Given the description of an element on the screen output the (x, y) to click on. 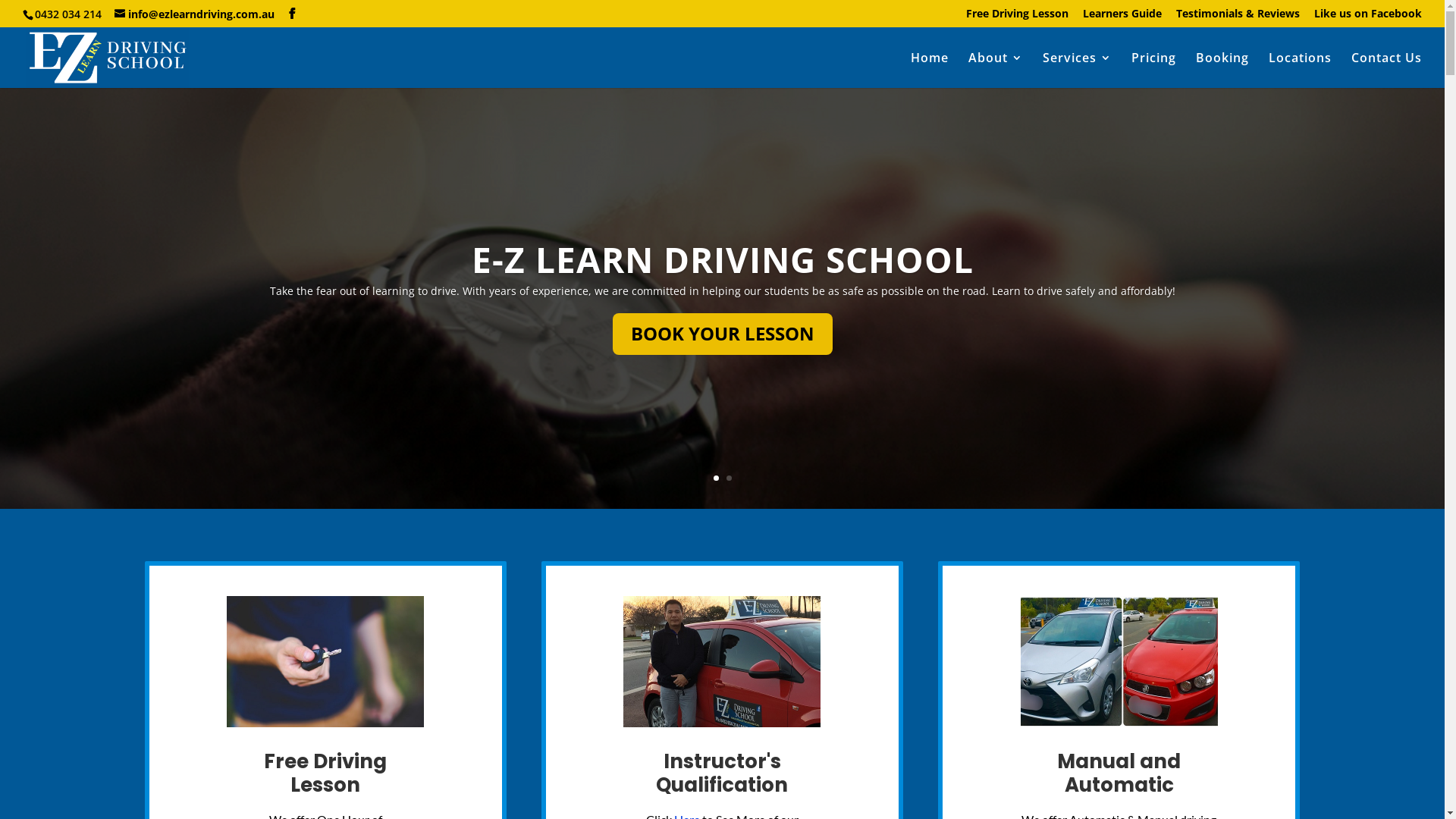
Pricing Element type: text (1153, 69)
Like us on Facebook Element type: text (1367, 16)
Booking Element type: text (1221, 69)
Services Element type: text (1076, 69)
Testimonials & Reviews Element type: text (1237, 16)
Locations Element type: text (1299, 69)
Free Driving Lesson Element type: text (1017, 16)
Instructor's Qualification Element type: text (721, 772)
About Element type: text (995, 69)
BOOK YOUR LESSON Element type: text (722, 333)
2 Element type: text (728, 477)
Learners Guide Element type: text (1121, 16)
info@ezlearndriving.com.au Element type: text (194, 13)
Contact Us Element type: text (1386, 69)
1 Element type: text (715, 477)
Home Element type: text (929, 69)
Free Driving Lesson Element type: text (324, 772)
E-Z LEARN DRIVING SCHOOL Element type: text (722, 258)
